Given the description of an element on the screen output the (x, y) to click on. 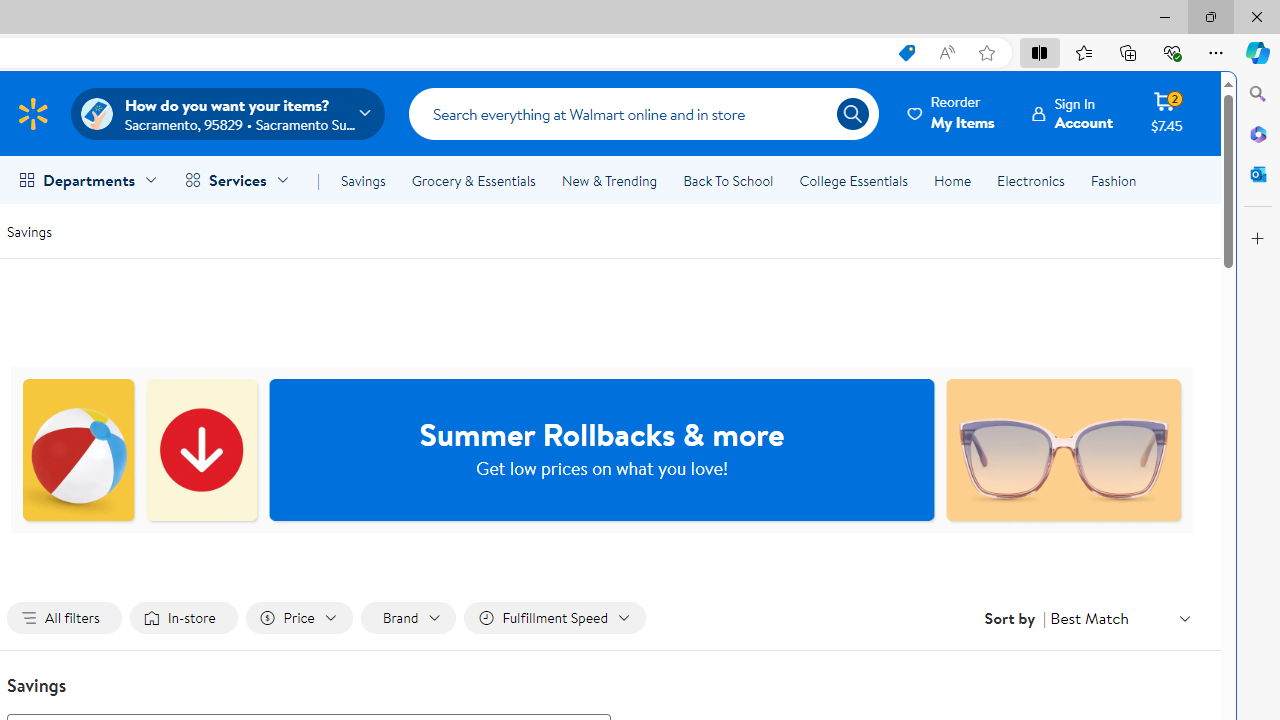
College Essentials (852, 180)
All filters none applied, activate to change (63, 618)
Back To School (728, 180)
Restore (1210, 16)
Close Outlook pane (1258, 174)
Settings and more (Alt+F) (1215, 52)
Savings (29, 230)
Search icon (852, 113)
Split screen (1039, 52)
Fashion (1113, 180)
Savings (363, 180)
